Given the description of an element on the screen output the (x, y) to click on. 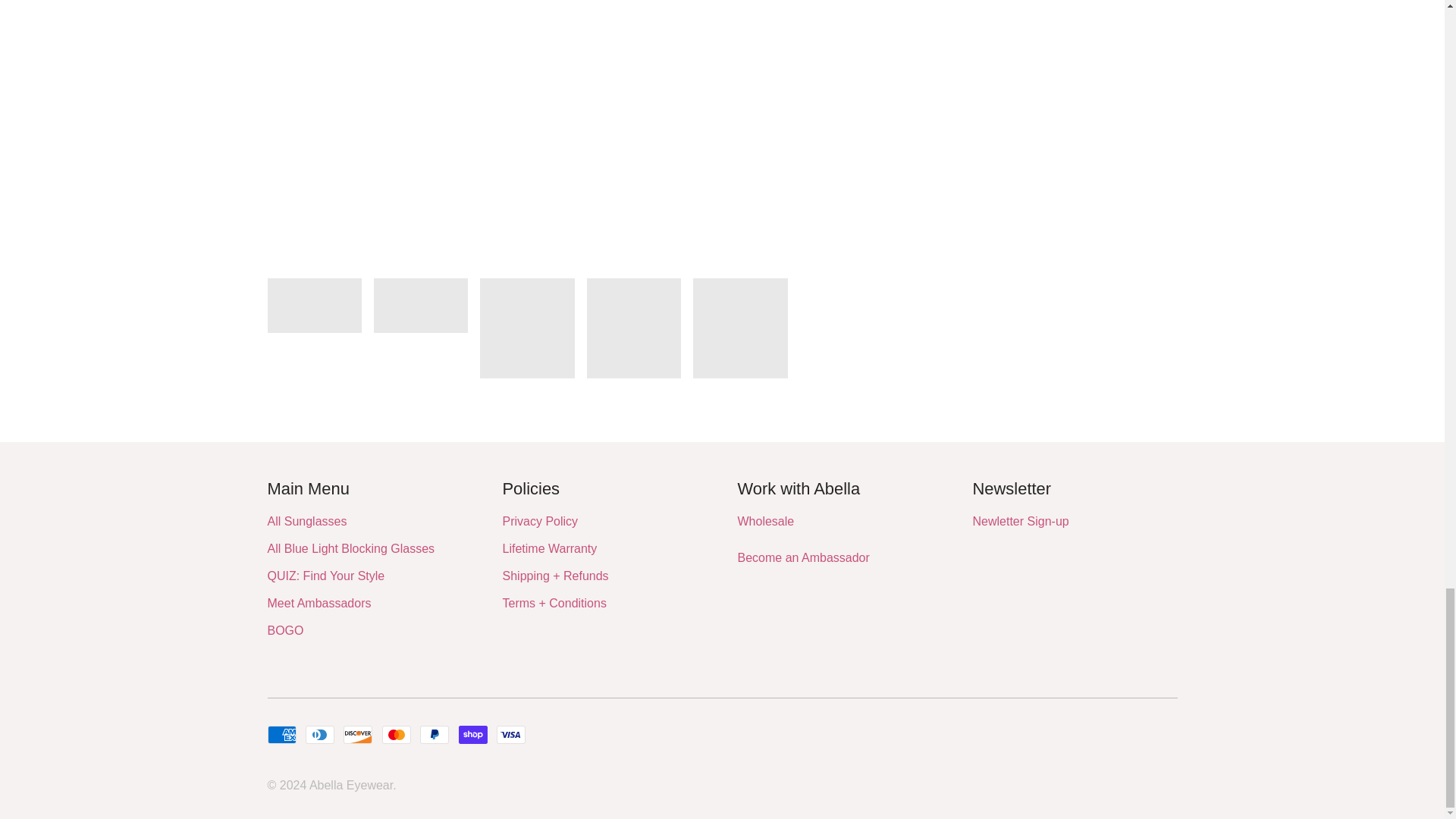
Discover (357, 734)
PayPal (434, 734)
American Express (280, 734)
Diners Club (319, 734)
Shop Pay (472, 734)
Mastercard (395, 734)
Visa (510, 734)
